Given the description of an element on the screen output the (x, y) to click on. 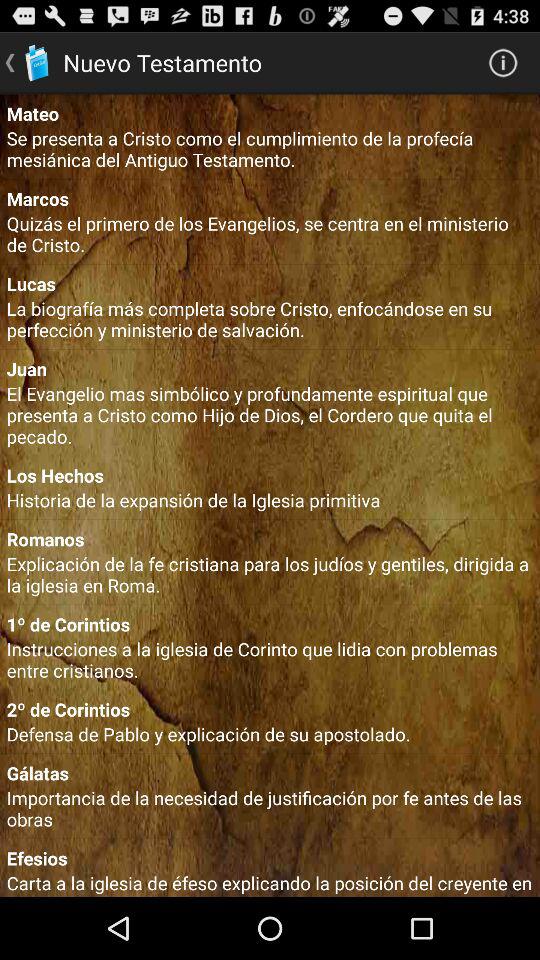
press the icon above the historia de la app (269, 475)
